Given the description of an element on the screen output the (x, y) to click on. 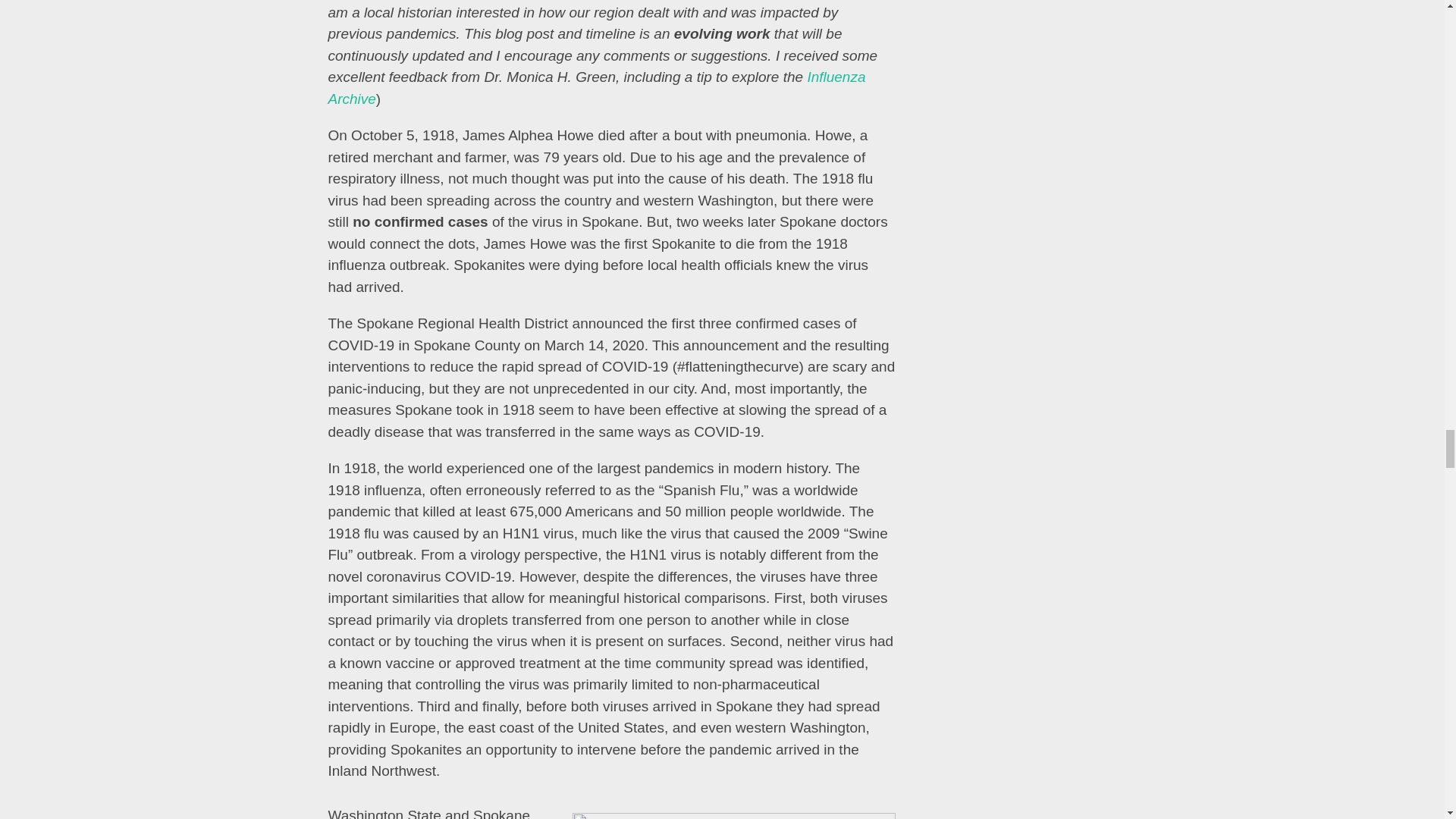
Influenza Archive (595, 87)
